Given the description of an element on the screen output the (x, y) to click on. 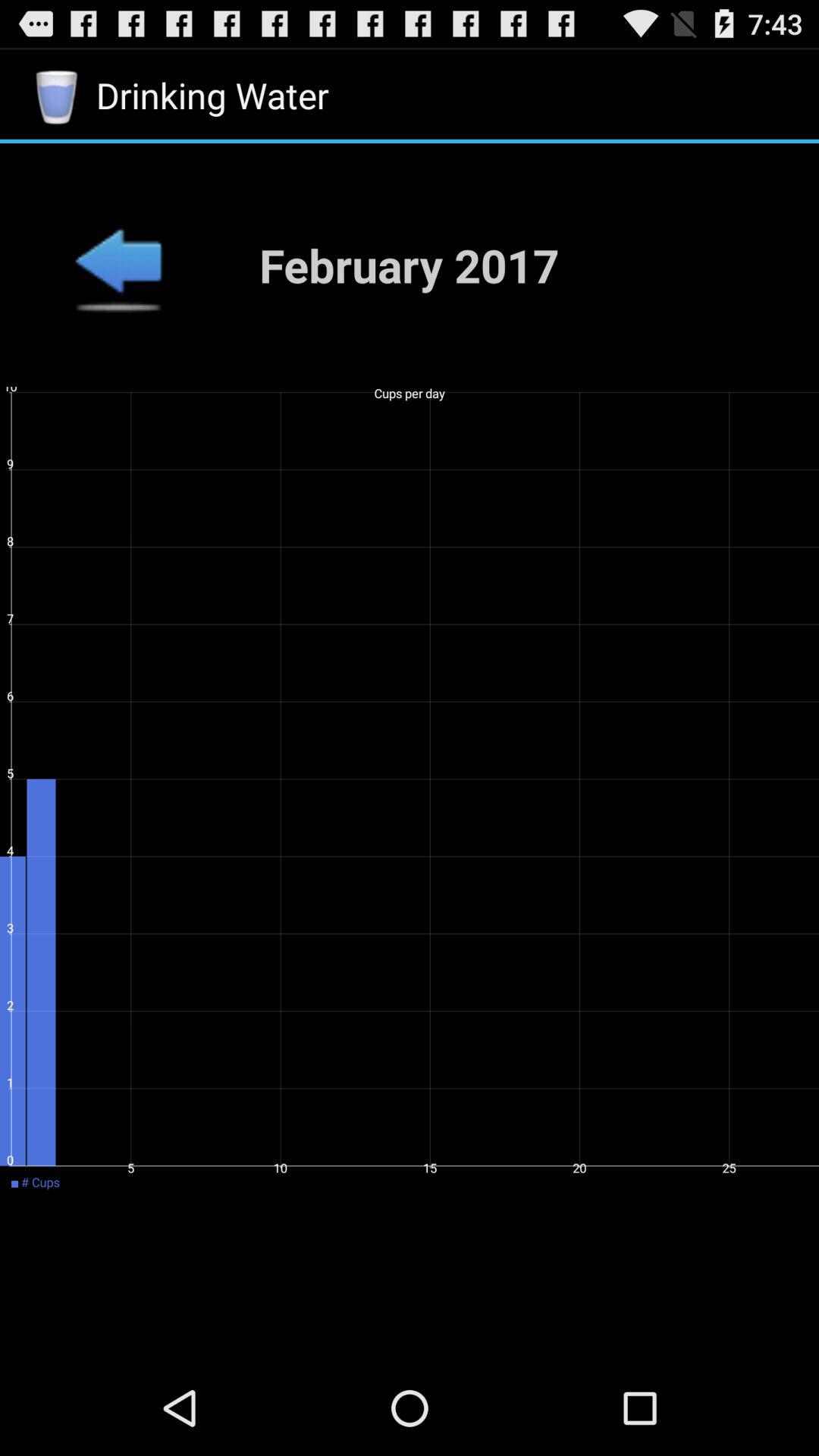
select the item next to the february 2017 item (118, 264)
